Given the description of an element on the screen output the (x, y) to click on. 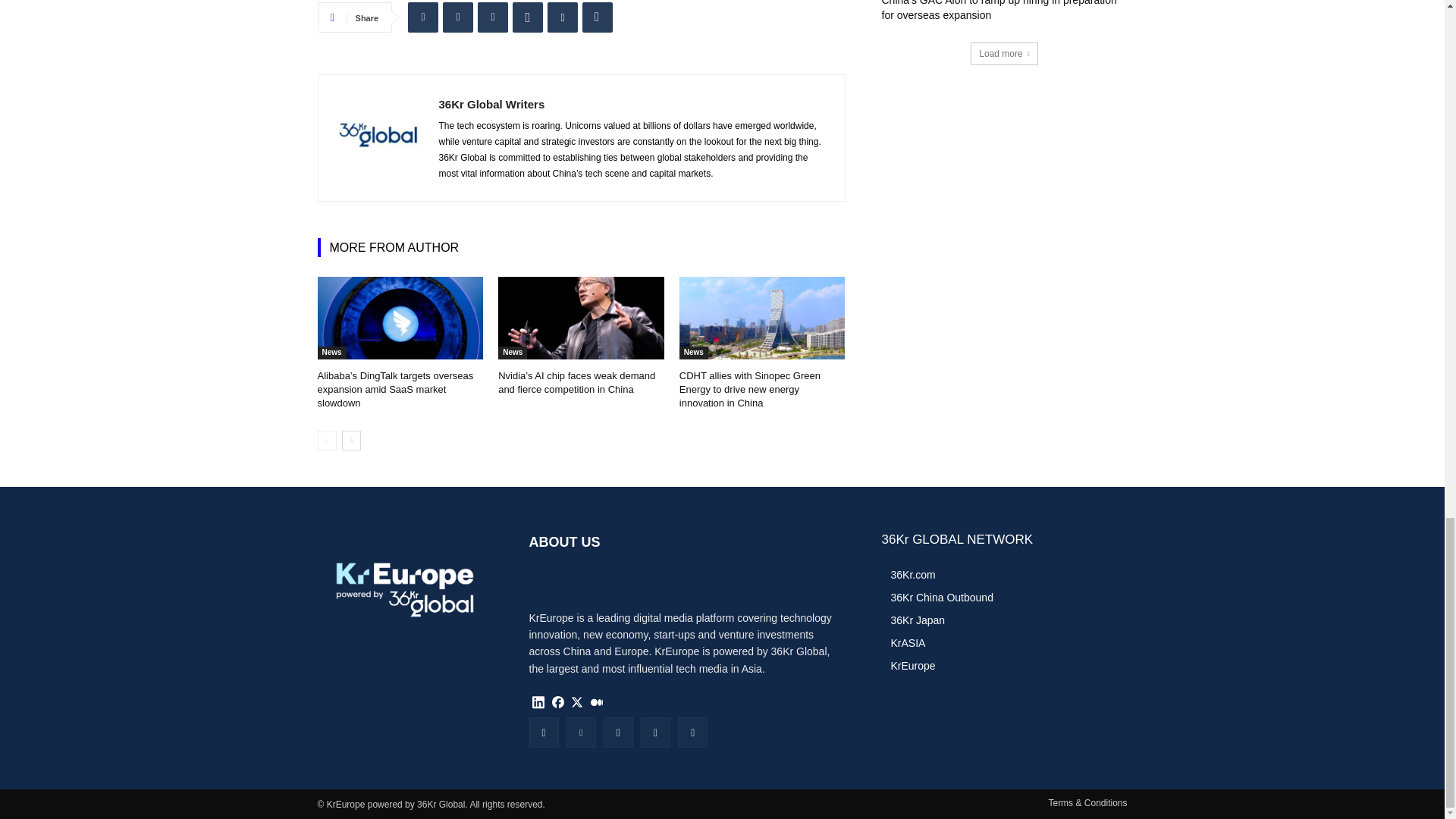
Facebook (492, 17)
Twitter (457, 17)
Copy URL (597, 17)
WhatsApp (527, 17)
36Kr Global Writers (633, 104)
News (331, 352)
Email (562, 17)
Linkedin (422, 17)
36Kr Global Writers (377, 137)
